Given the description of an element on the screen output the (x, y) to click on. 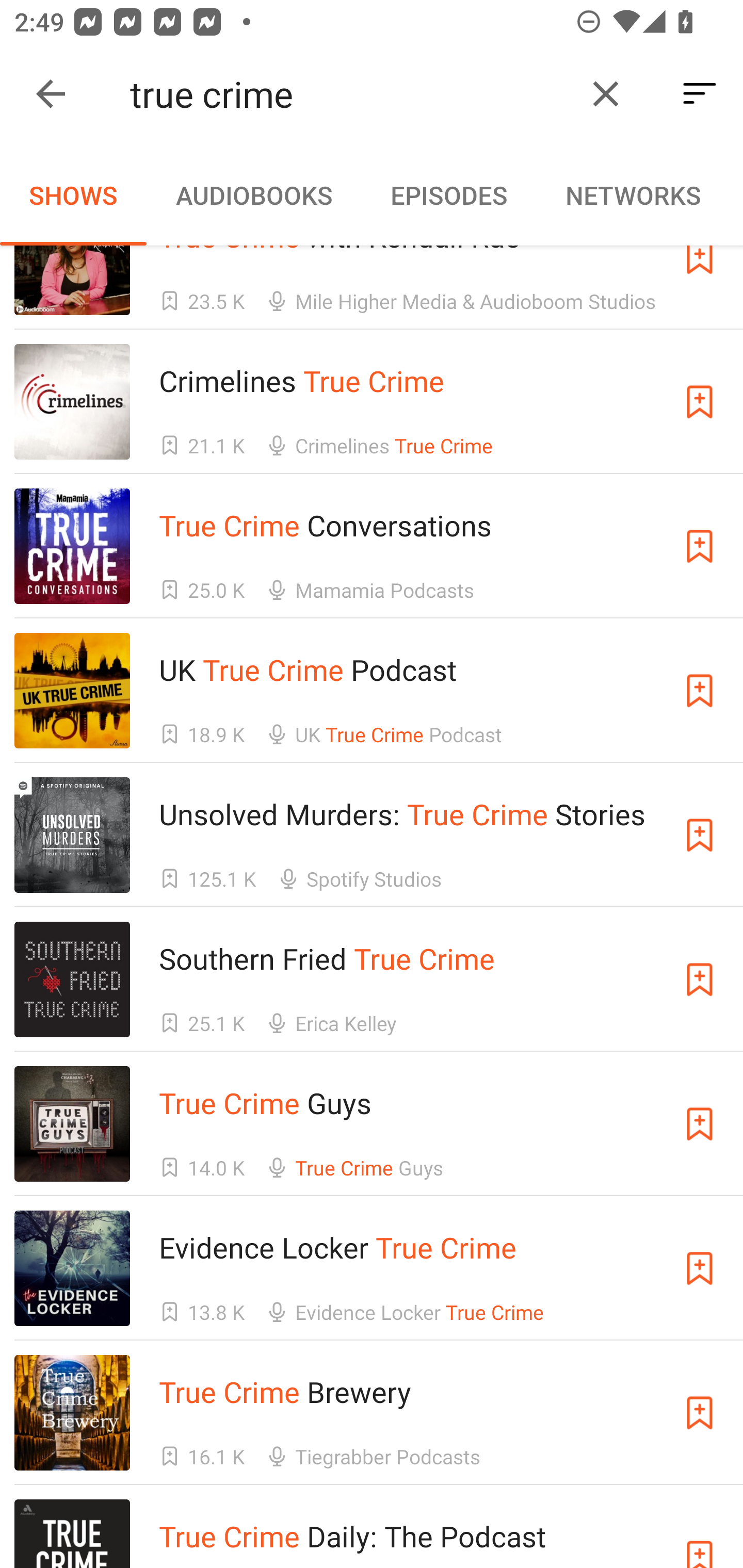
Collapse (50, 93)
Clear query (605, 93)
Sort By (699, 93)
true crime (349, 94)
SHOWS (73, 195)
AUDIOBOOKS (253, 195)
EPISODES (448, 195)
NETWORKS (632, 195)
Subscribe (699, 401)
Subscribe (699, 546)
Subscribe (699, 690)
Subscribe (699, 834)
Subscribe (699, 979)
Subscribe (699, 1124)
Subscribe (699, 1268)
Subscribe (699, 1412)
Subscribe (699, 1533)
